Given the description of an element on the screen output the (x, y) to click on. 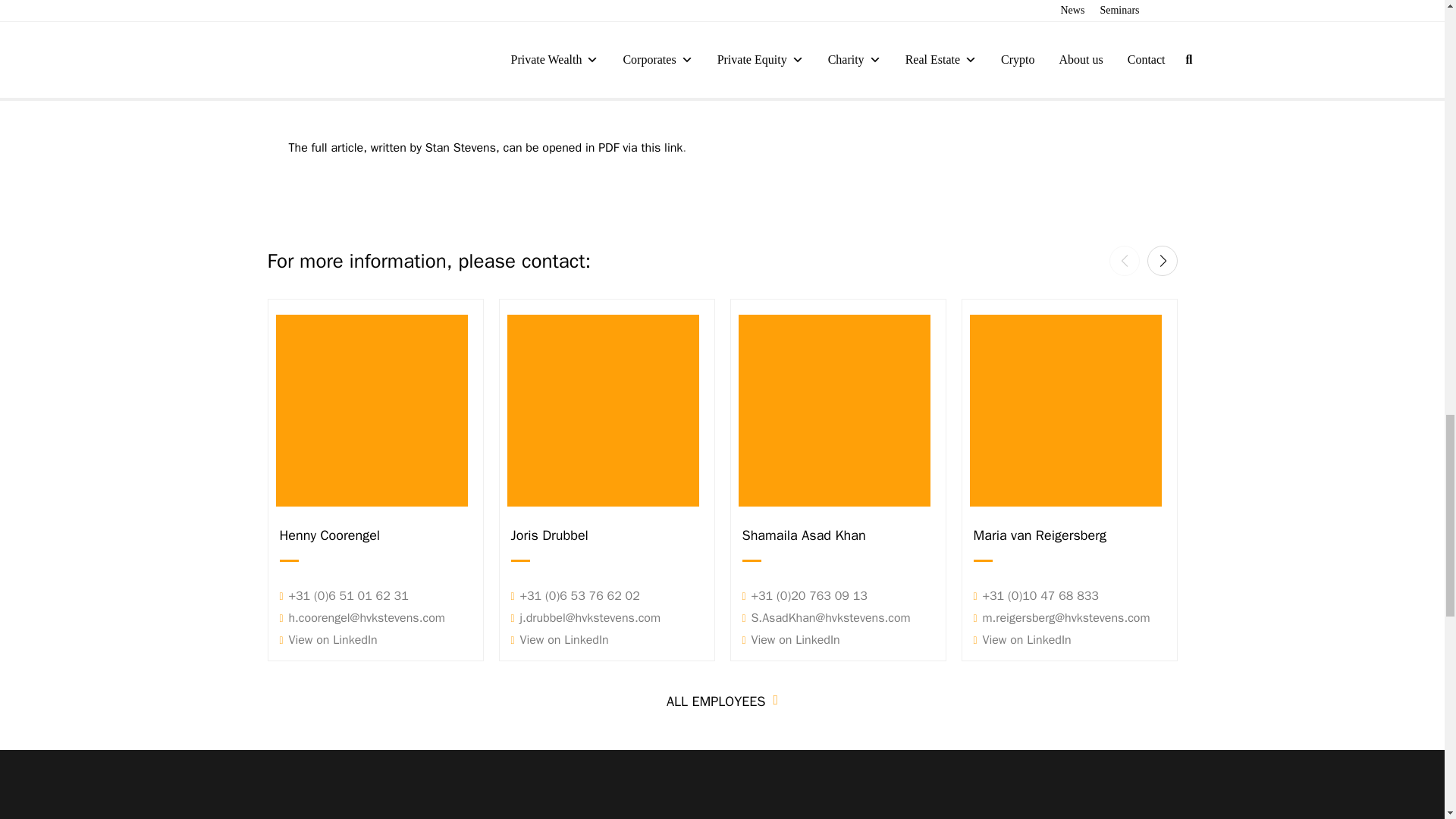
View on LinkedIn (328, 639)
Henny Coorengel (374, 536)
